Given the description of an element on the screen output the (x, y) to click on. 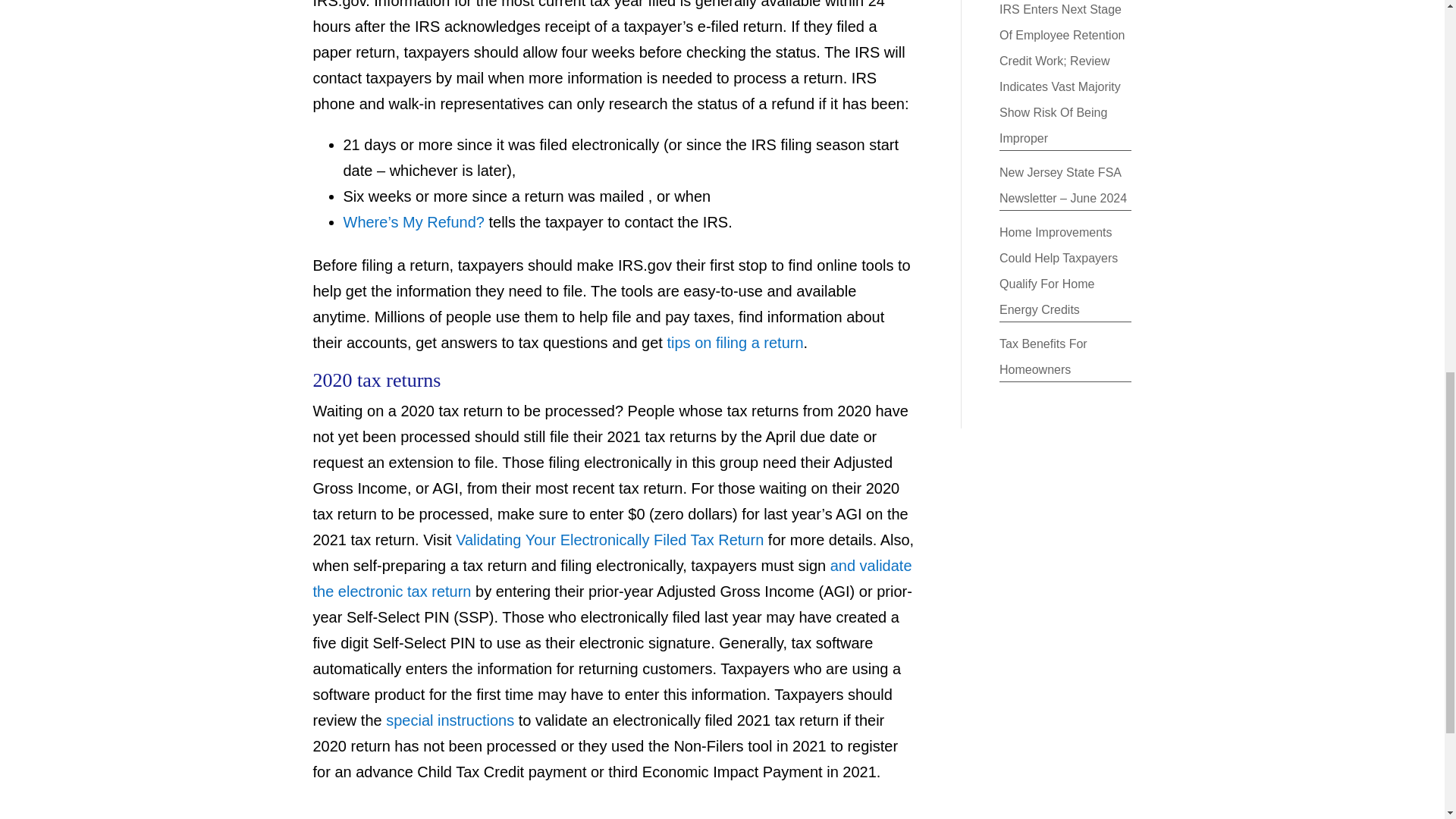
tips on filing a return (734, 342)
special instructions (449, 719)
Tax Benefits For Homeowners (1042, 356)
and validate the electronic tax return (612, 578)
Validating Your Electronically Filed Tax Return (608, 539)
